Given the description of an element on the screen output the (x, y) to click on. 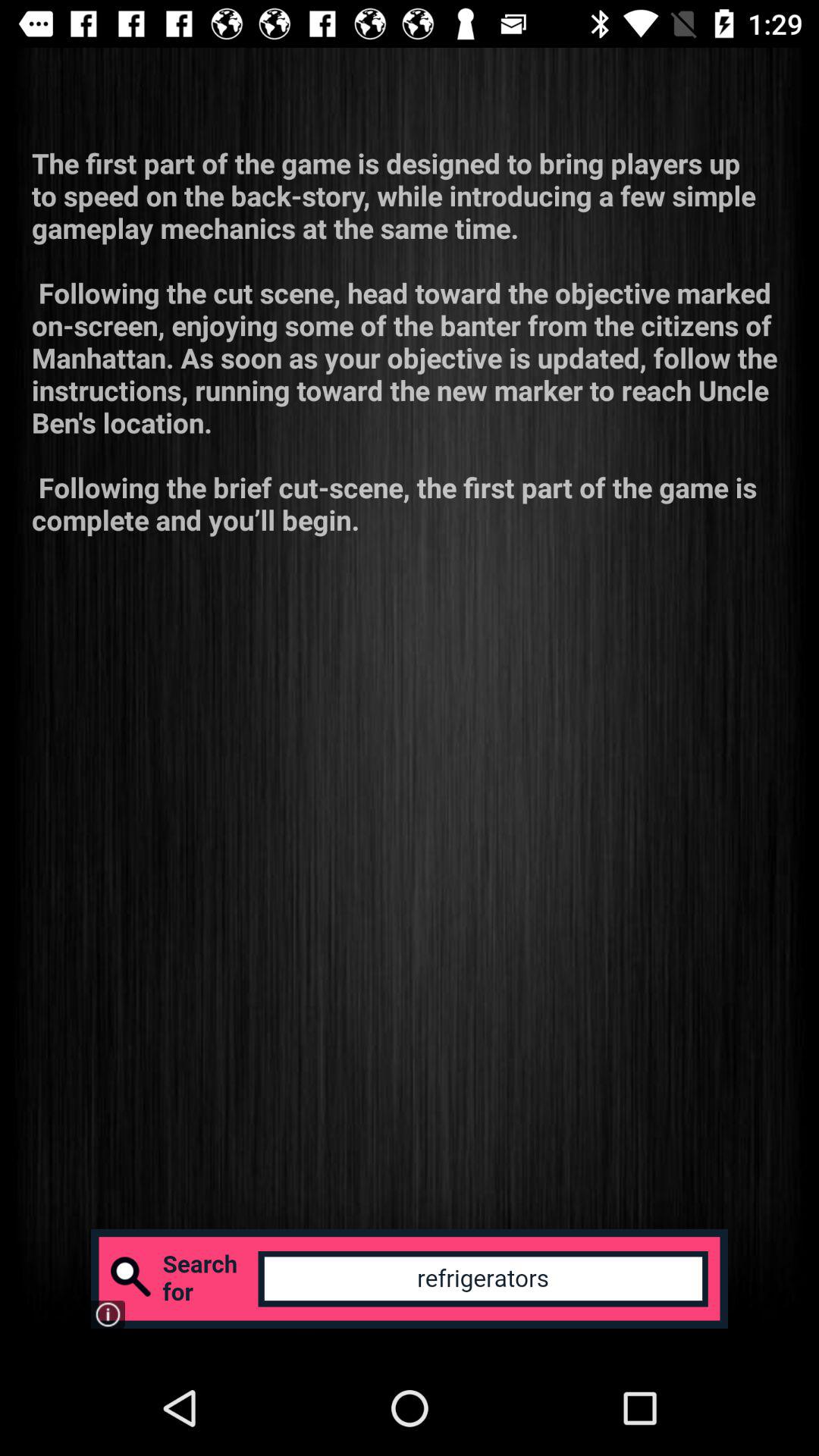
search box (409, 1278)
